Given the description of an element on the screen output the (x, y) to click on. 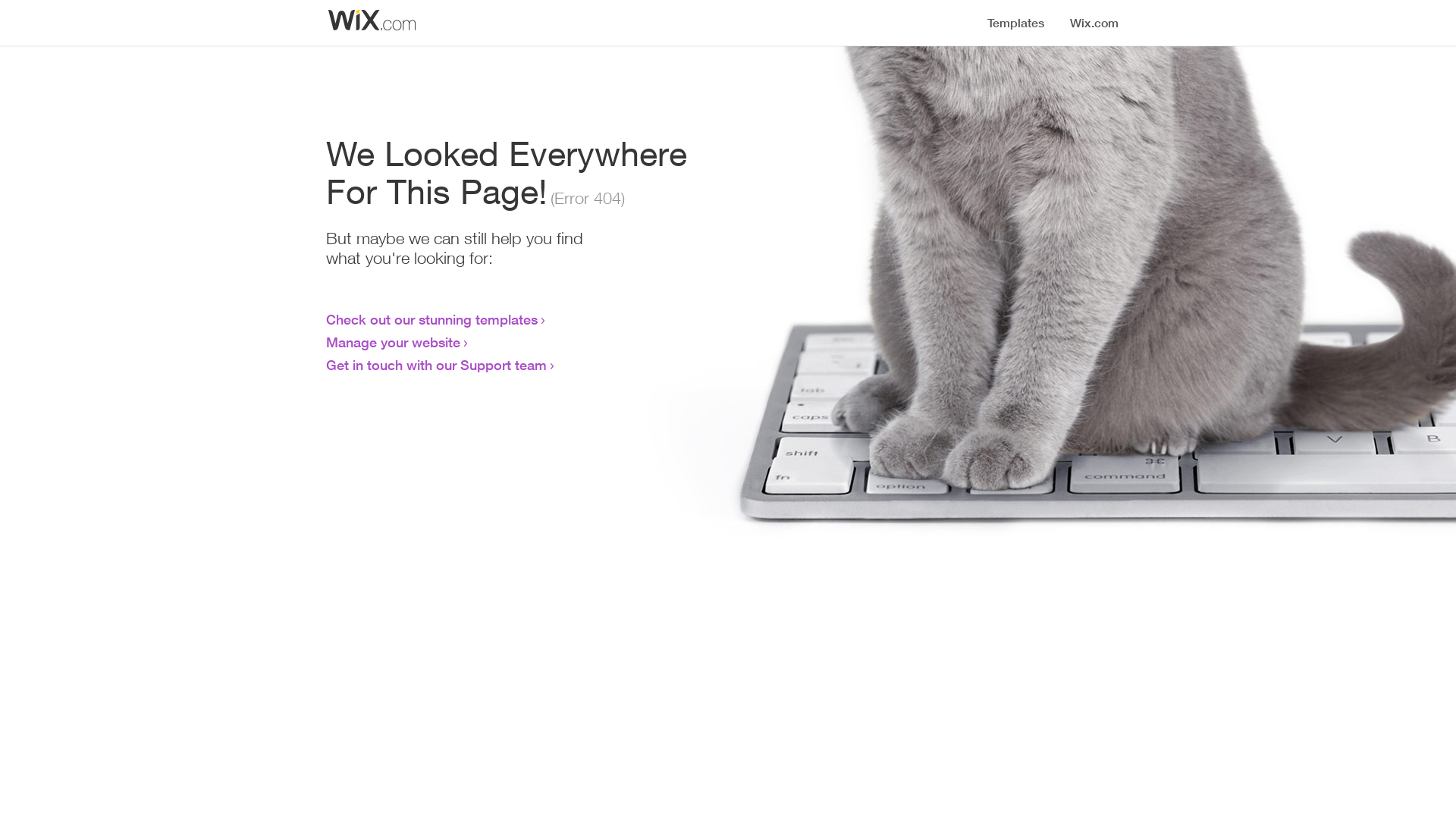
Check out our stunning templates Element type: text (431, 318)
Get in touch with our Support team Element type: text (436, 364)
Manage your website Element type: text (393, 341)
